Given the description of an element on the screen output the (x, y) to click on. 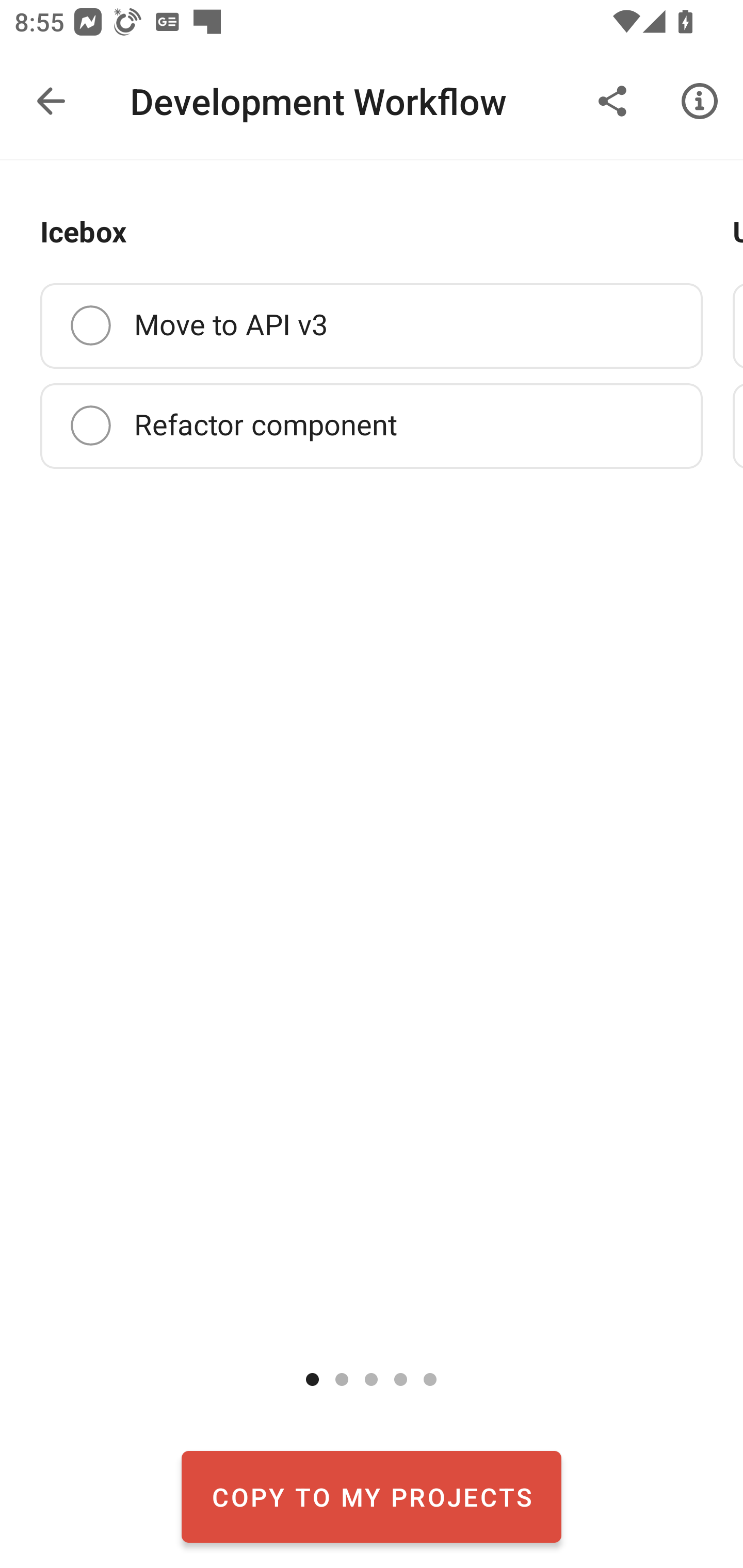
Navigate up (50, 101)
Share (612, 101)
About this template (699, 101)
Icebox (83, 232)
Complete Move to API v3 (371, 325)
Complete (90, 325)
Complete Refactor component (371, 425)
Complete (90, 425)
COPY TO MY PROJECTS (371, 1496)
